Given the description of an element on the screen output the (x, y) to click on. 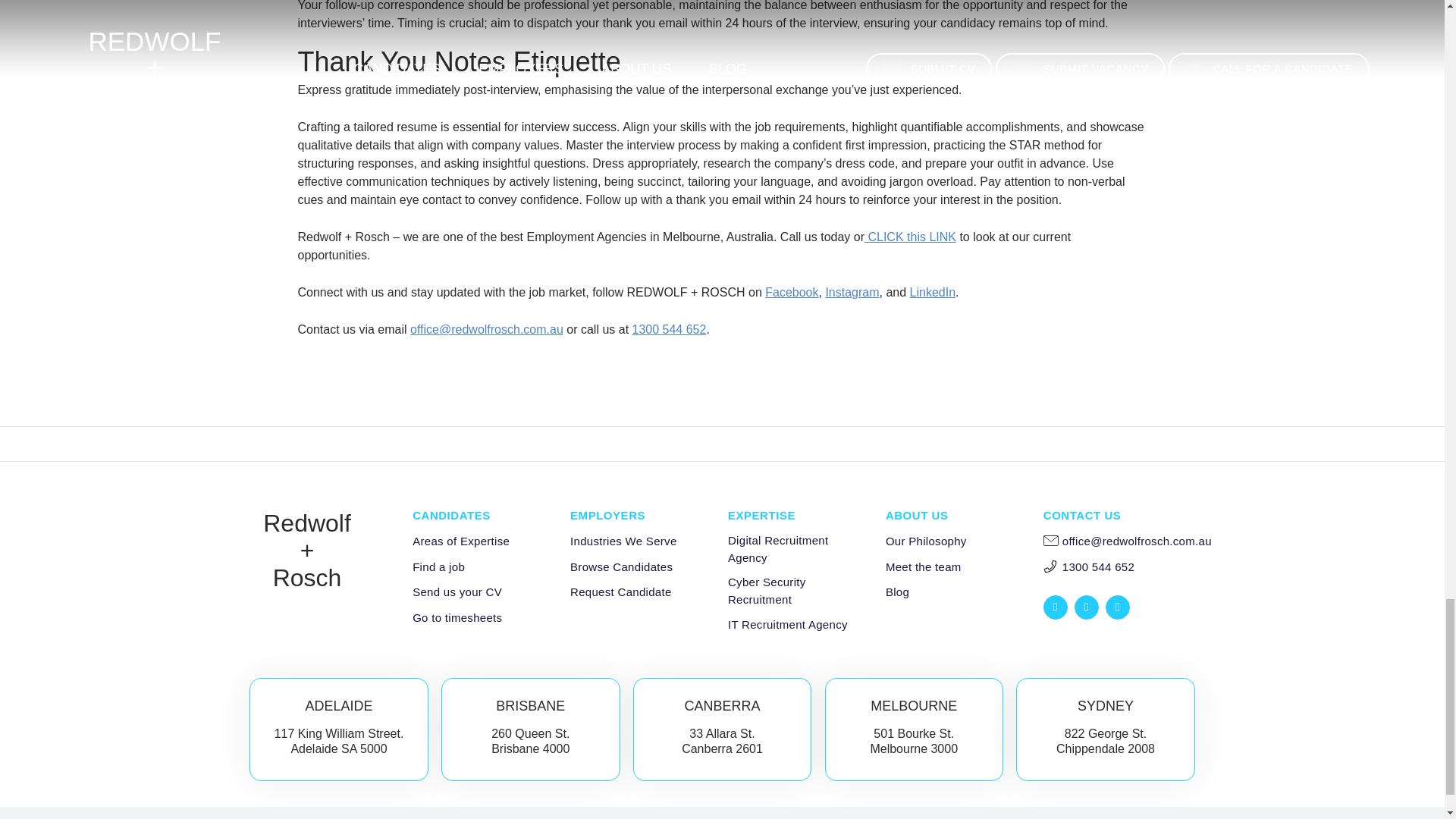
Send us your CV (457, 592)
Browse Candidates (621, 567)
 CLICK this LINK (910, 236)
Industries We Serve (623, 541)
Instagram (852, 291)
Meet the team (922, 567)
Facebook (791, 291)
Find a job (438, 567)
1300 544 652 (668, 328)
IT Recruitment Agency (787, 624)
